Given the description of an element on the screen output the (x, y) to click on. 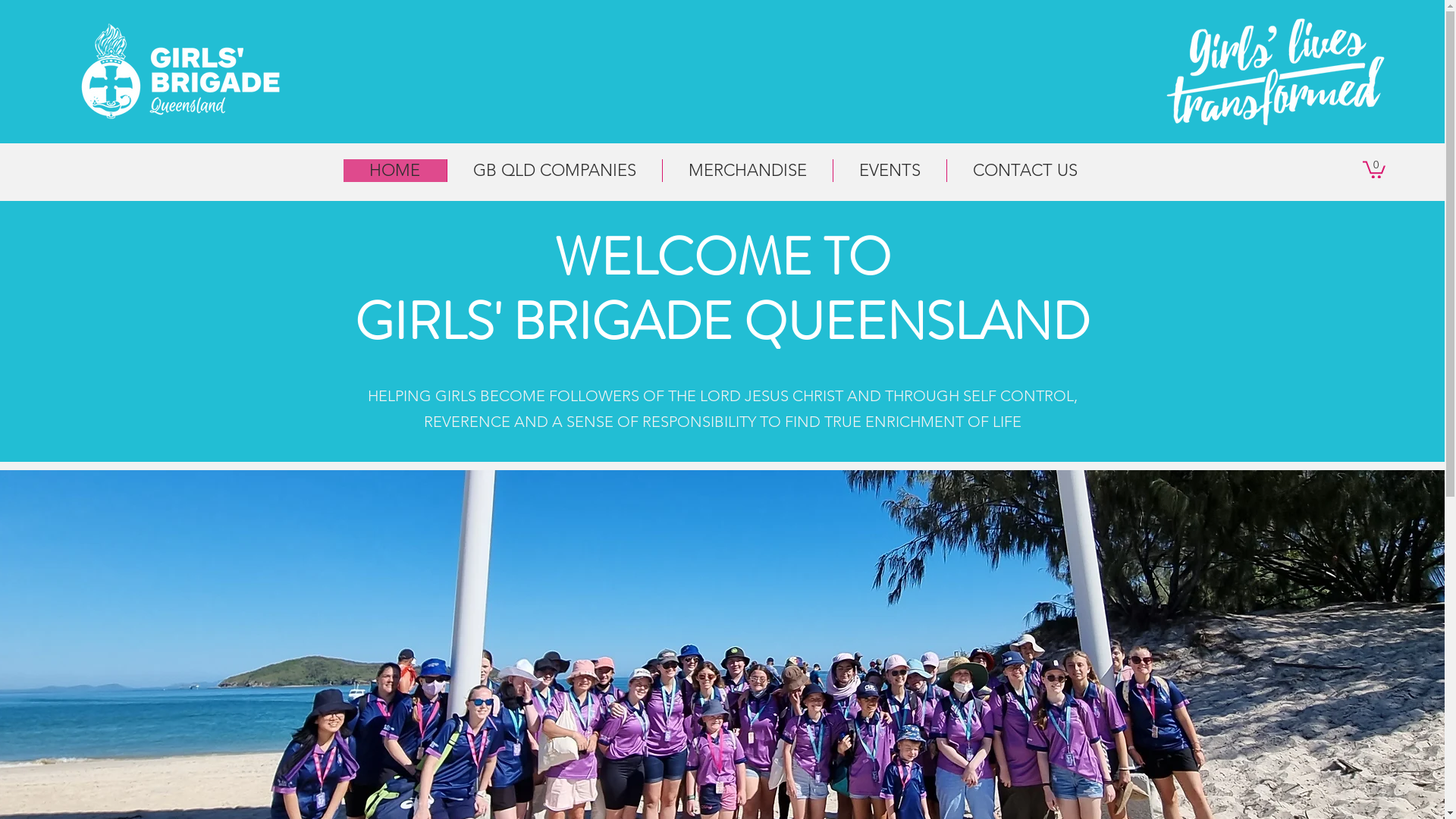
0 Element type: text (1373, 168)
MERCHANDISE Element type: text (746, 170)
EVENTS Element type: text (889, 170)
HOME Element type: text (393, 170)
GB QLD COMPANIES Element type: text (553, 170)
CONTACT US Element type: text (1024, 170)
